Given the description of an element on the screen output the (x, y) to click on. 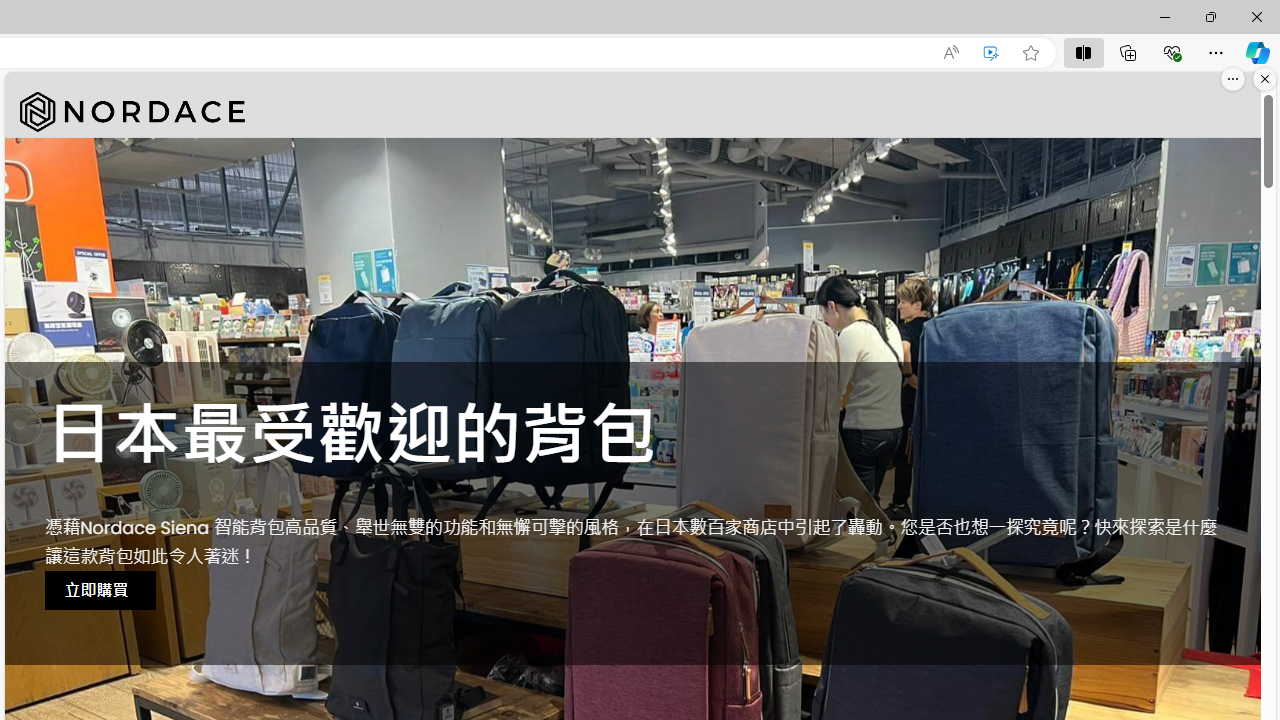
Enhance video (991, 53)
More options. (1233, 79)
